Given the description of an element on the screen output the (x, y) to click on. 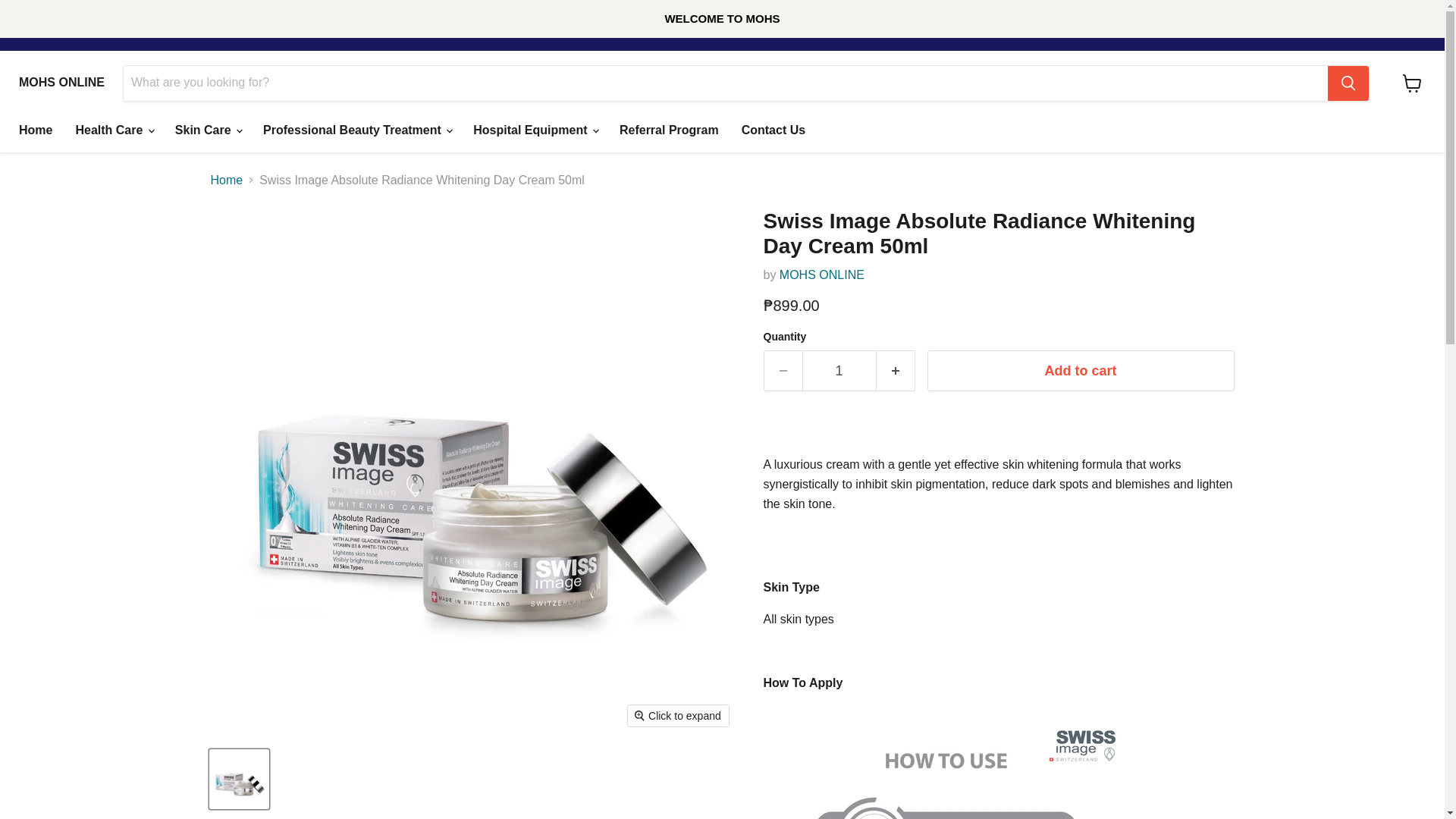
1 (839, 371)
MOHS ONLINE (61, 82)
View cart (1411, 82)
Contact Us (773, 129)
MOHS ONLINE (821, 274)
Home (35, 129)
Referral Program (669, 129)
